Given the description of an element on the screen output the (x, y) to click on. 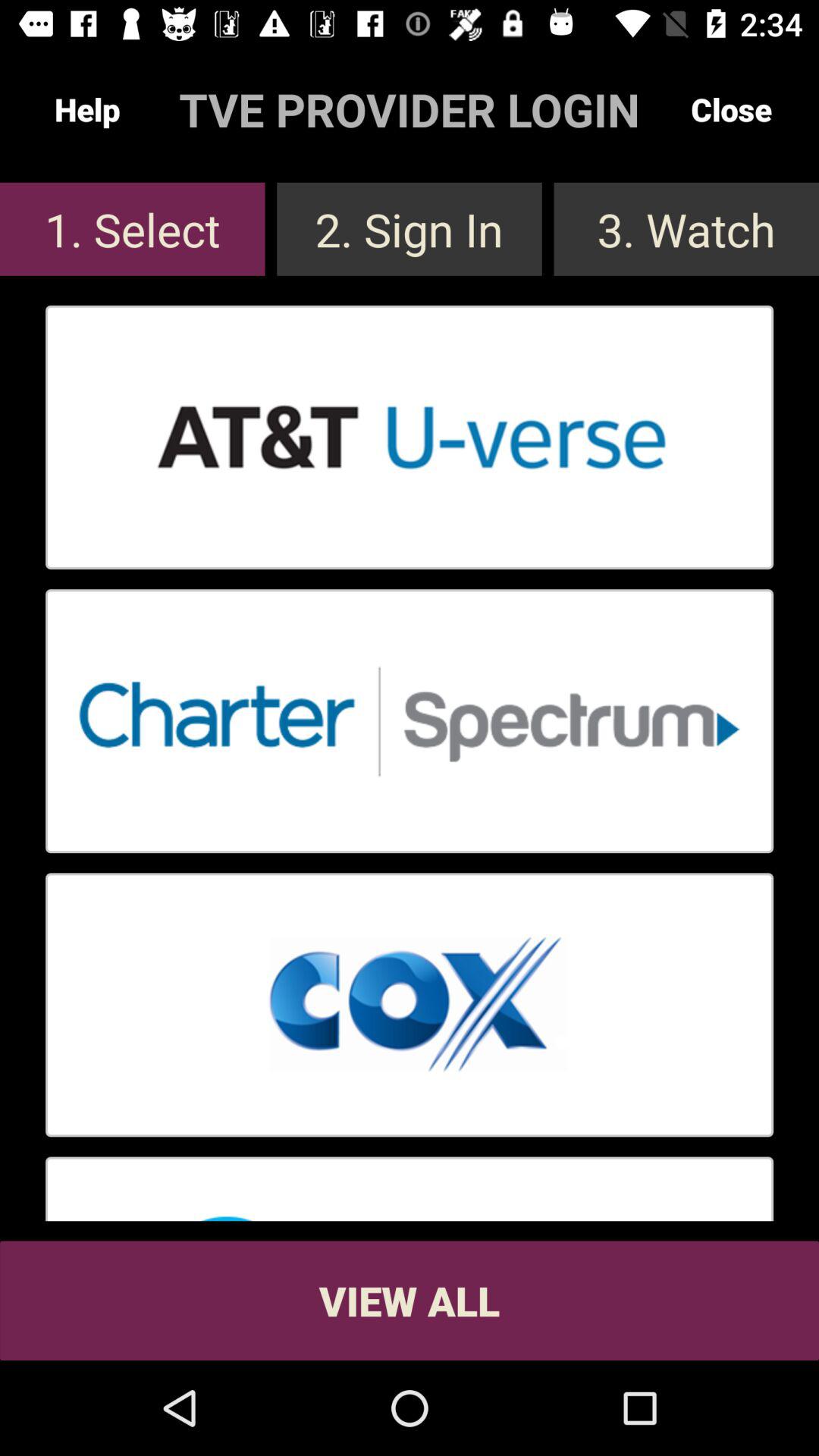
launch the item next to tve provider login icon (731, 108)
